Given the description of an element on the screen output the (x, y) to click on. 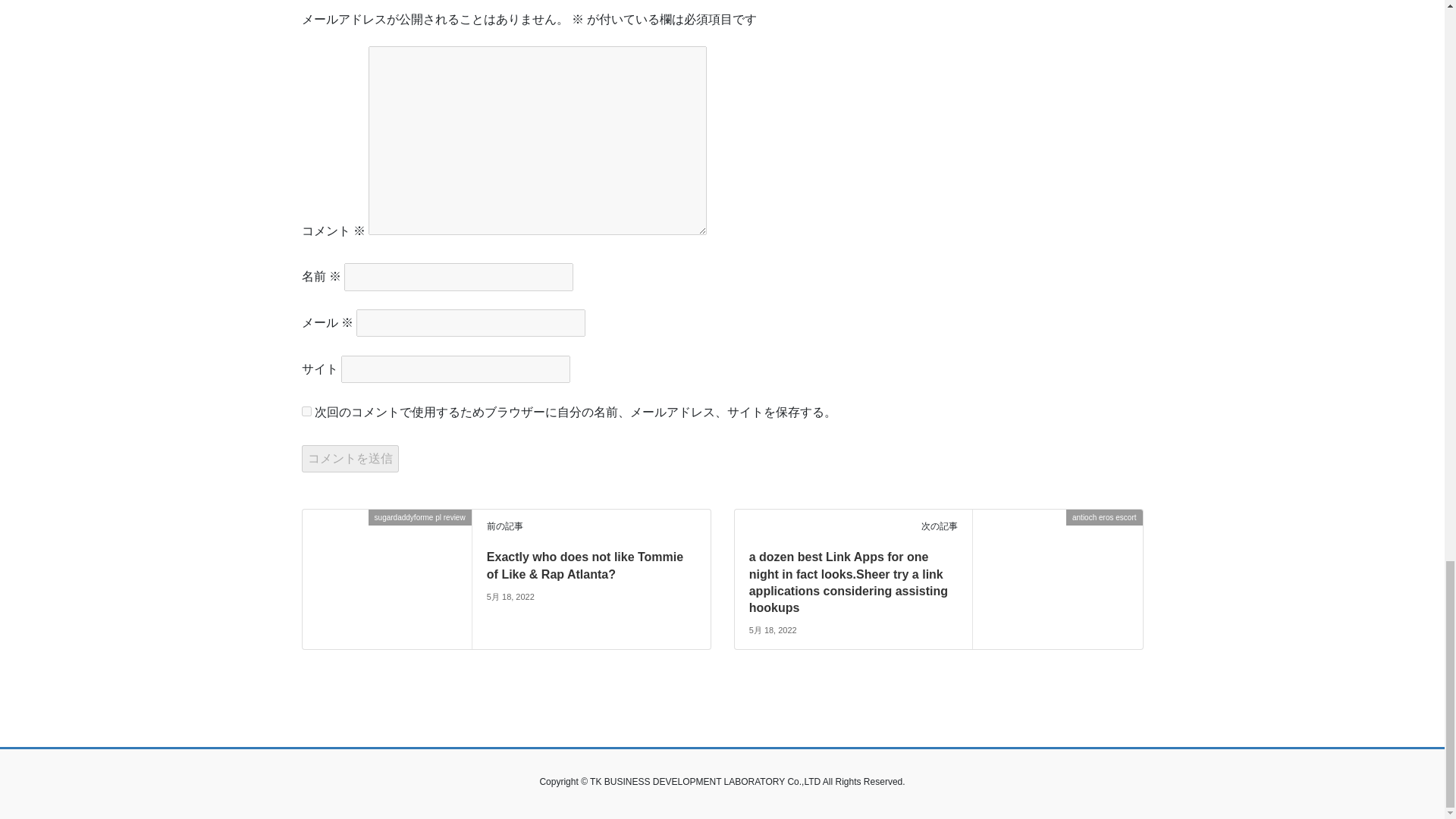
yes (306, 411)
